Given the description of an element on the screen output the (x, y) to click on. 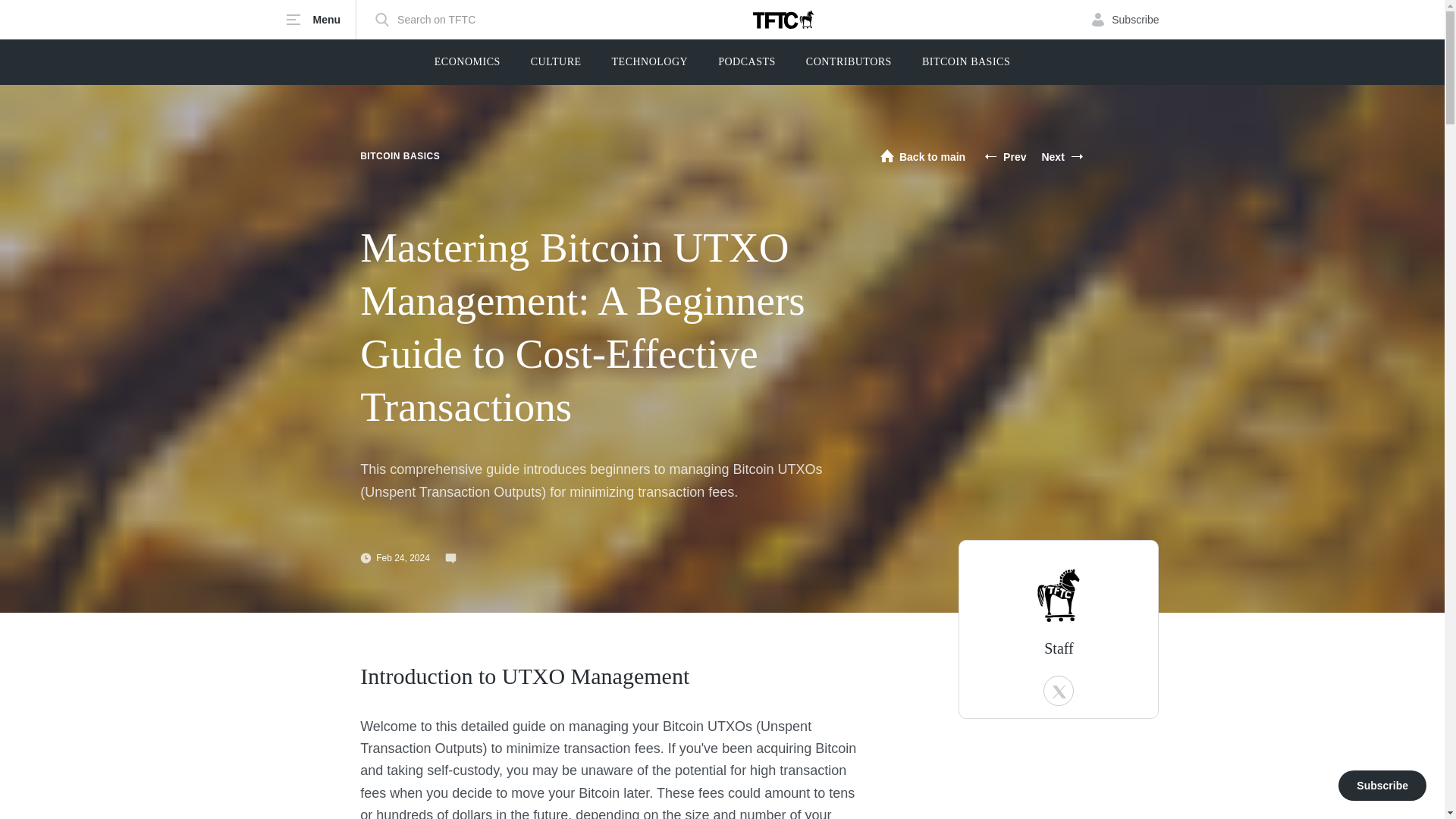
ECONOMICS (466, 62)
BITCOIN BASICS (965, 62)
Staff (1058, 595)
Subscribe (1124, 19)
Back to main (922, 156)
Staff (1058, 648)
TECHNOLOGY (649, 62)
PODCASTS (746, 62)
Menu (320, 19)
Next (1062, 156)
